Given the description of an element on the screen output the (x, y) to click on. 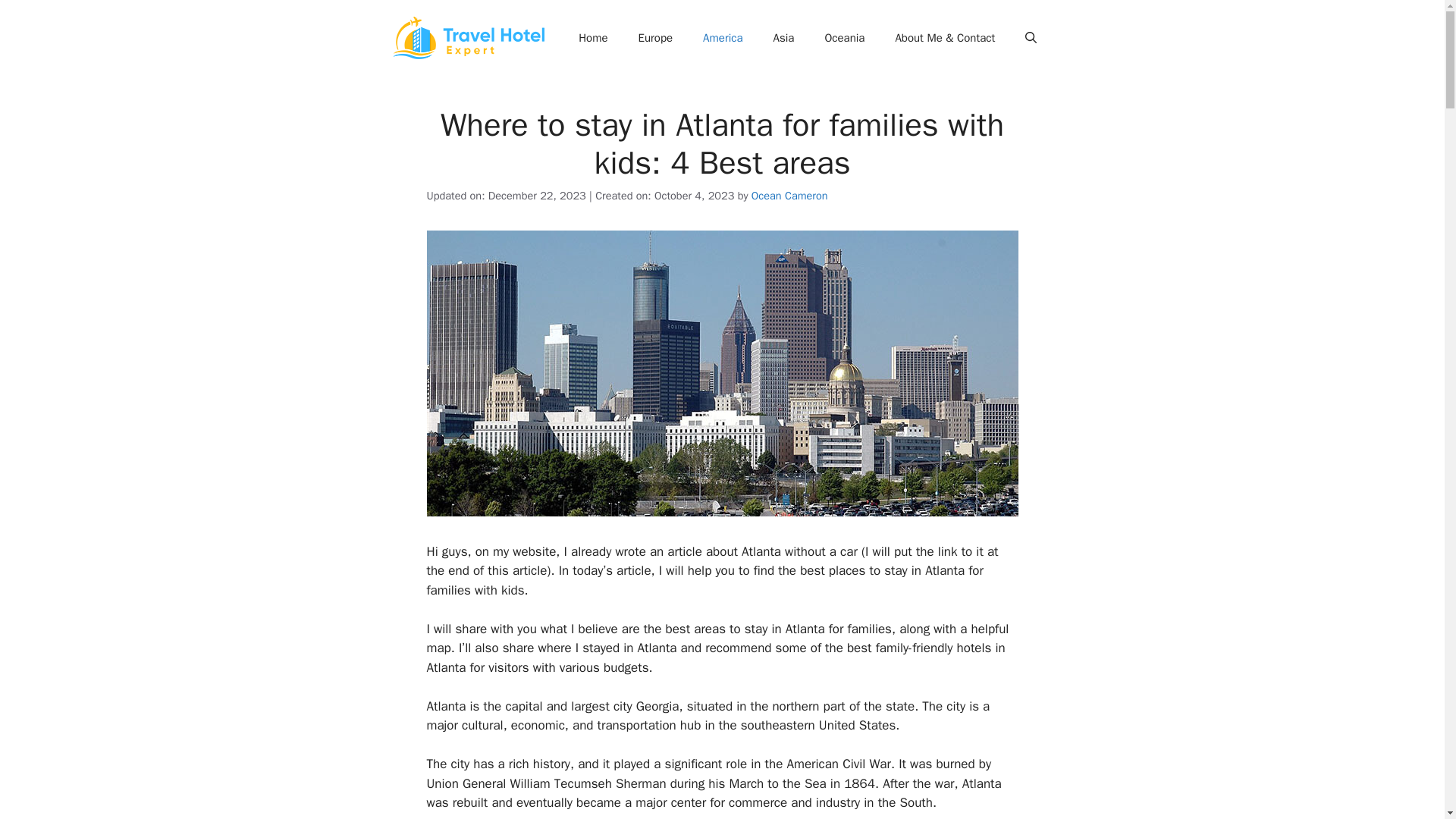
Asia (783, 37)
America (722, 37)
Oceania (844, 37)
Europe (655, 37)
Home (593, 37)
View all posts by Ocean Cameron (789, 195)
Ocean Cameron (789, 195)
